Given the description of an element on the screen output the (x, y) to click on. 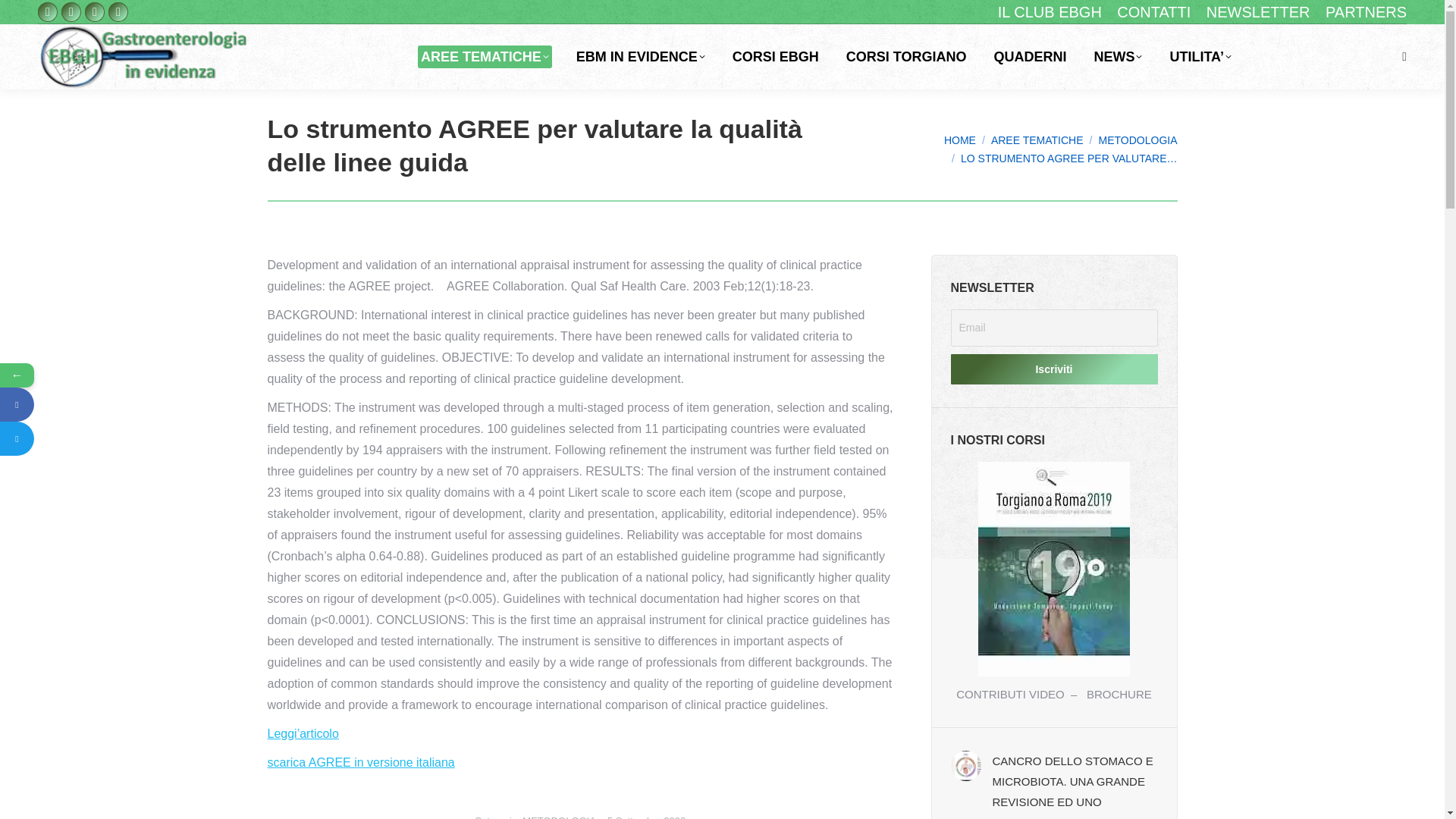
Linkedin page opens in new window (117, 12)
IL CLUB EBGH (1049, 12)
YouTube page opens in new window (94, 12)
Iscriviti (1053, 368)
Facebook page opens in new window (47, 12)
AREE TEMATICHE (484, 56)
Linkedin page opens in new window (117, 12)
YouTube page opens in new window (94, 12)
EBM IN EVIDENCE (640, 56)
Twitter page opens in new window (71, 12)
Facebook page opens in new window (47, 12)
Home (959, 140)
NEWSLETTER (1258, 12)
CONTATTI (1153, 12)
Twitter page opens in new window (71, 12)
